Given the description of an element on the screen output the (x, y) to click on. 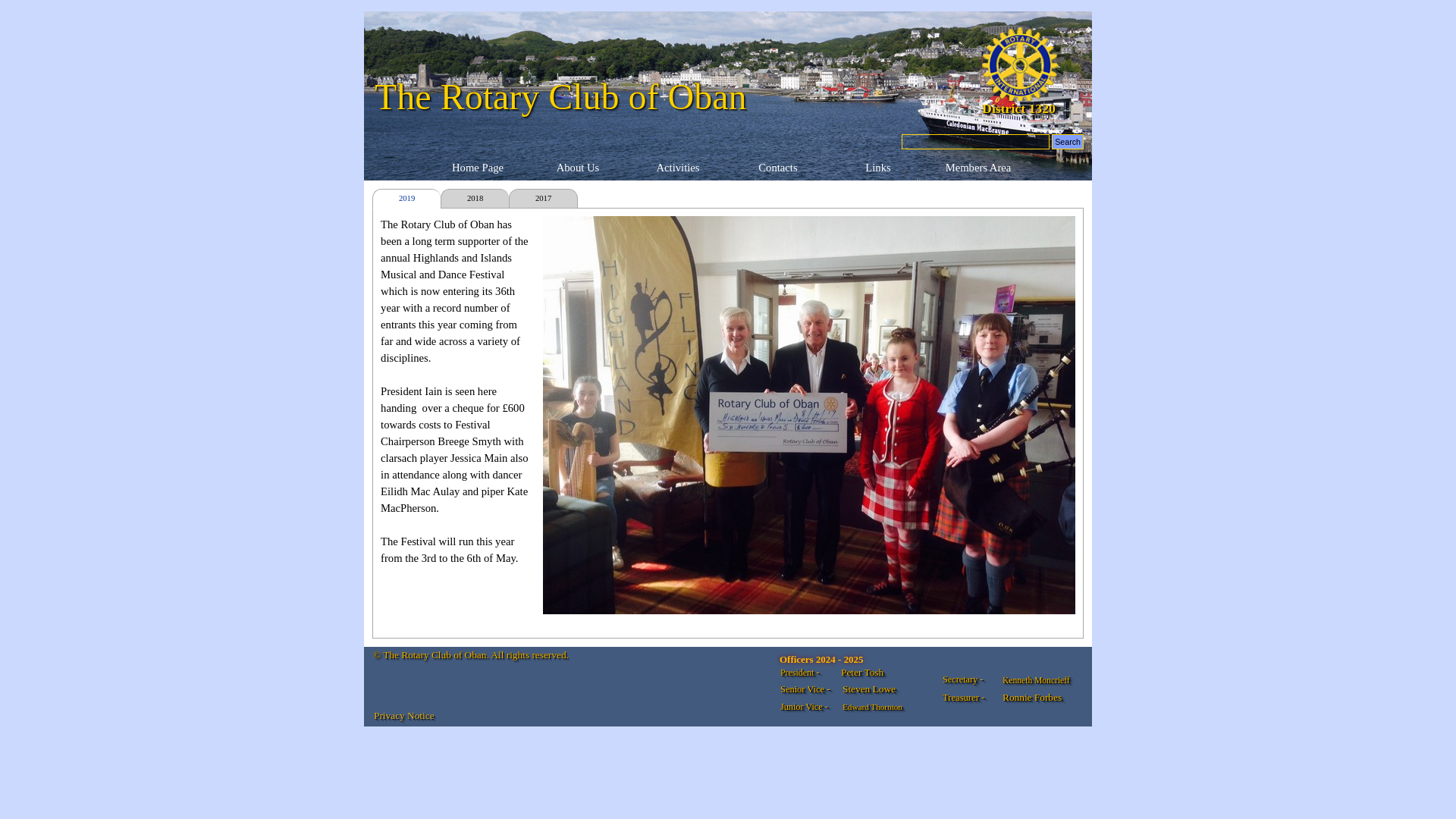
Members Area (978, 167)
About Us (577, 167)
2019 (406, 198)
Links (877, 167)
Privacy Notice (403, 715)
District 1320 (1018, 108)
2018 (474, 198)
2017 (543, 198)
Contacts (778, 167)
Activities (677, 167)
Home Page (477, 167)
Search (1067, 141)
